Given the description of an element on the screen output the (x, y) to click on. 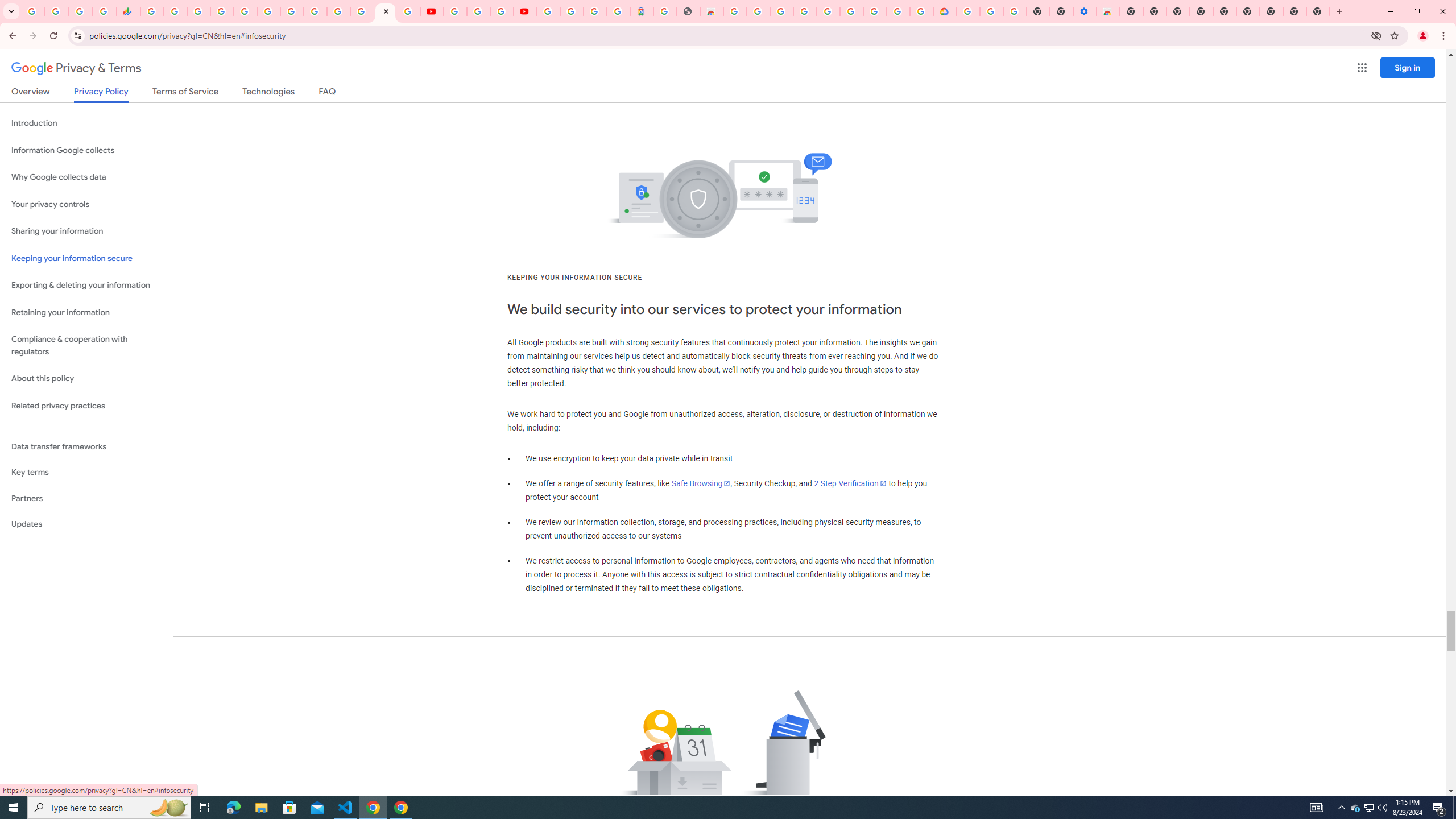
Atour Hotel - Google hotels (641, 11)
Safe Browsing (700, 483)
Sign in - Google Accounts (571, 11)
Google Account Help (850, 11)
